Given the description of an element on the screen output the (x, y) to click on. 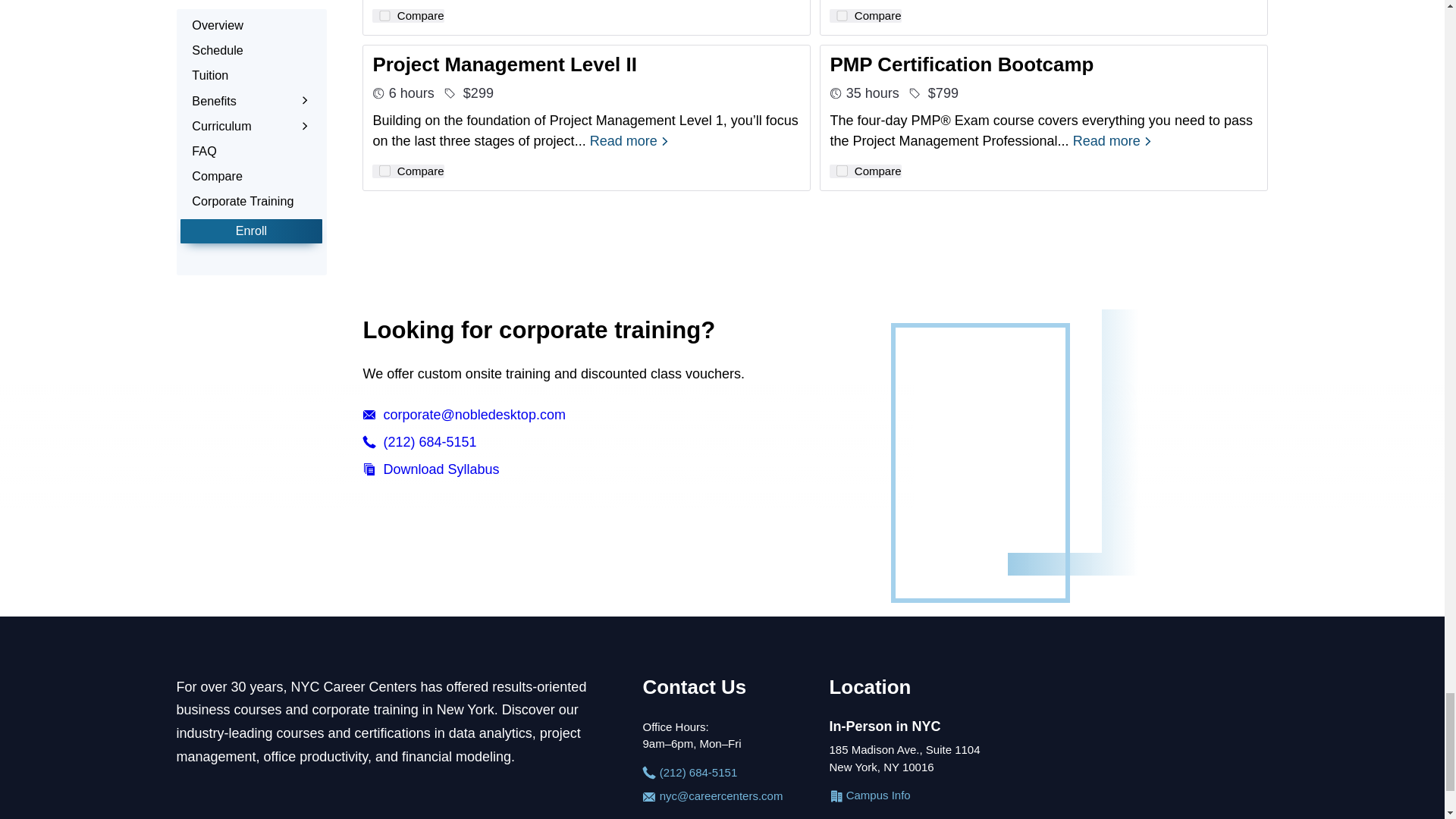
455 (841, 170)
354 (384, 15)
409 (384, 170)
475 (841, 15)
